Given the description of an element on the screen output the (x, y) to click on. 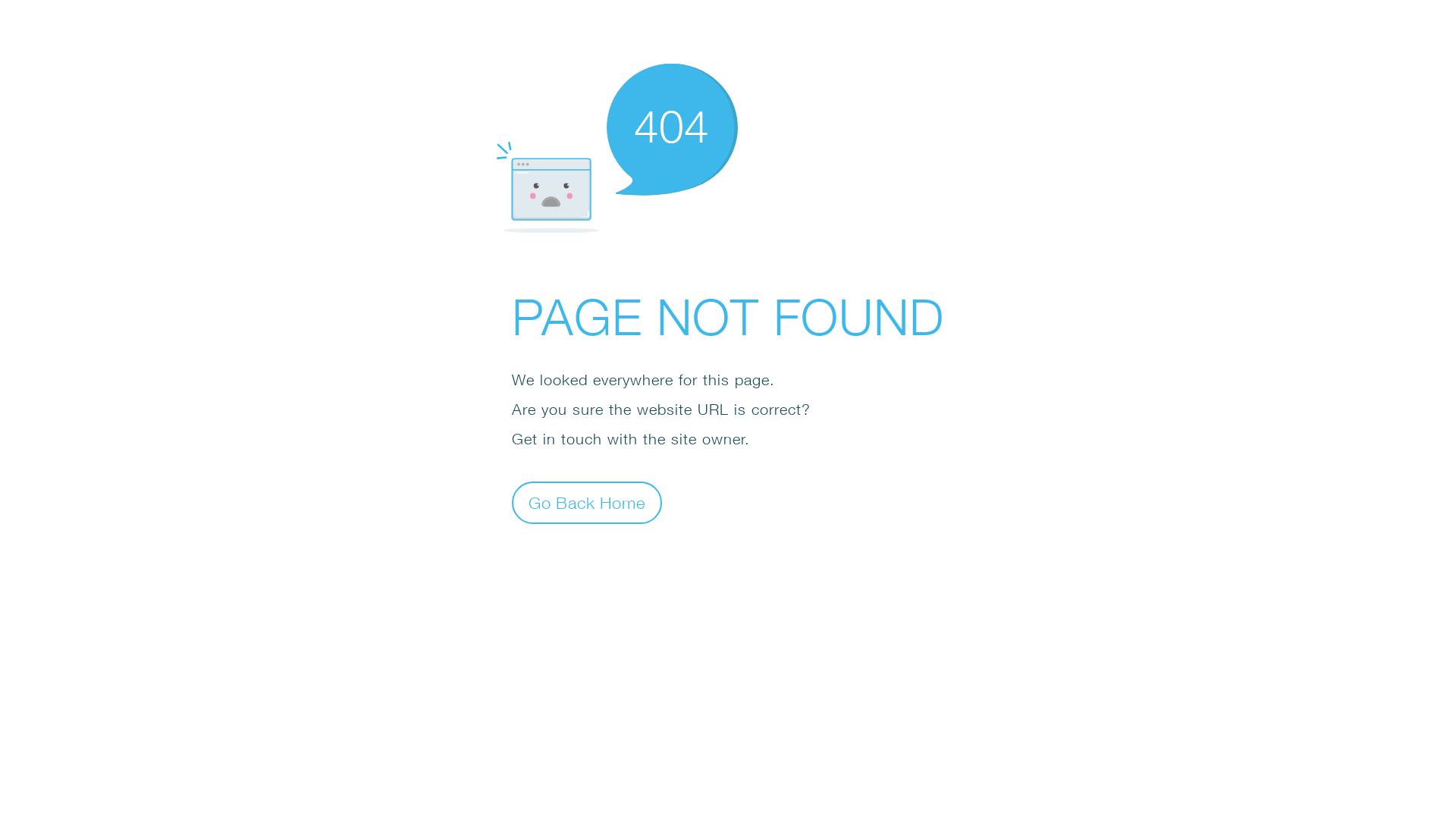
Go Back Home Element type: text (586, 502)
